Given the description of an element on the screen output the (x, y) to click on. 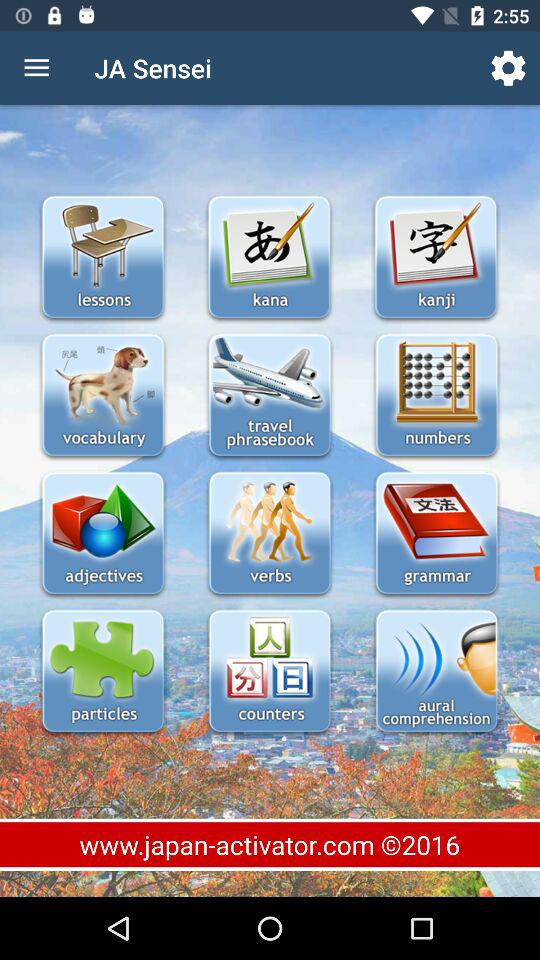
open the particles section (102, 672)
